Given the description of an element on the screen output the (x, y) to click on. 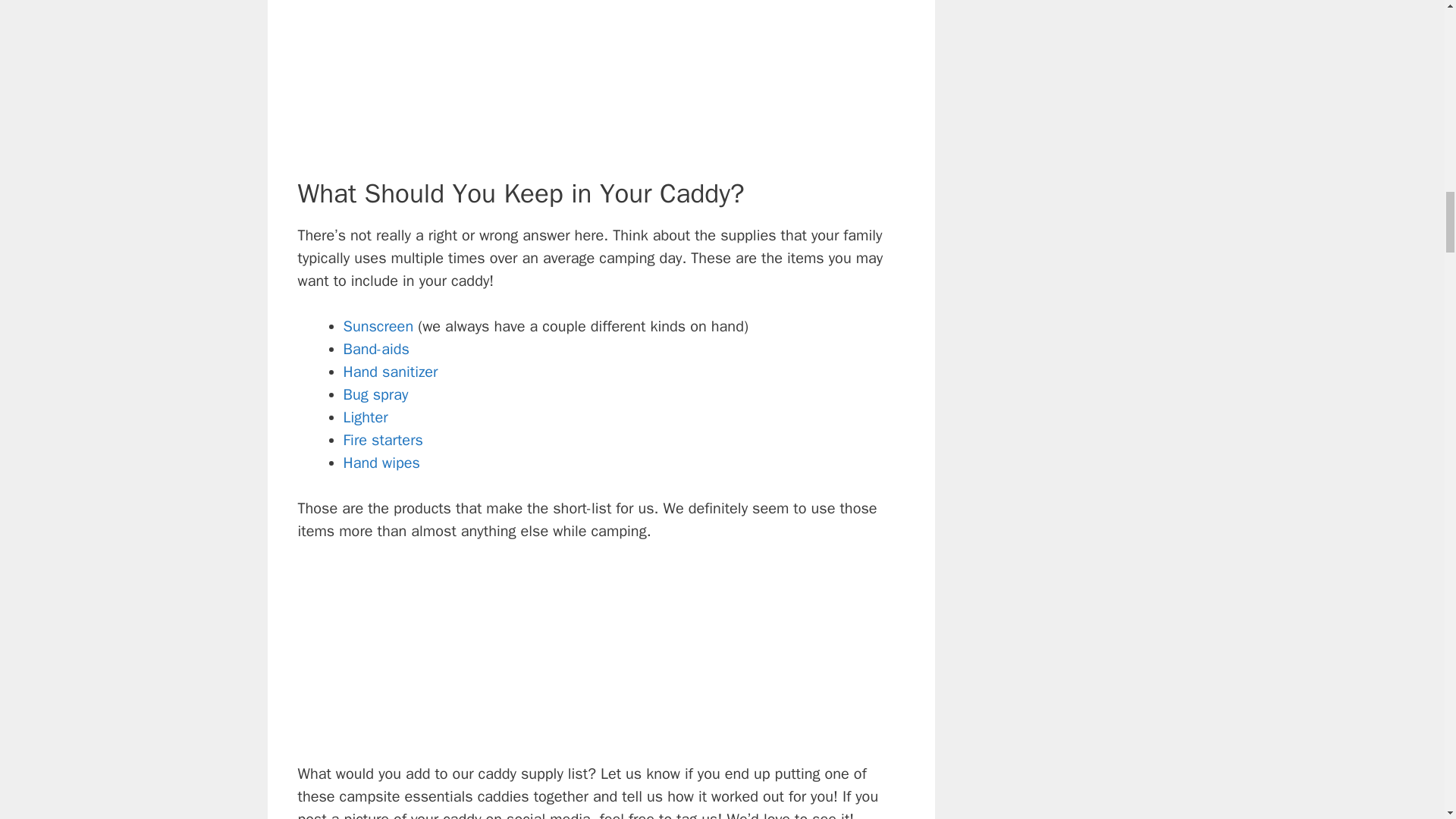
Sunscreen (377, 325)
Hand sanitizer (390, 371)
Bug spray (374, 394)
Fire starters (382, 439)
Hand wipes (380, 462)
Band-aids (375, 348)
Lighter (364, 416)
